Given the description of an element on the screen output the (x, y) to click on. 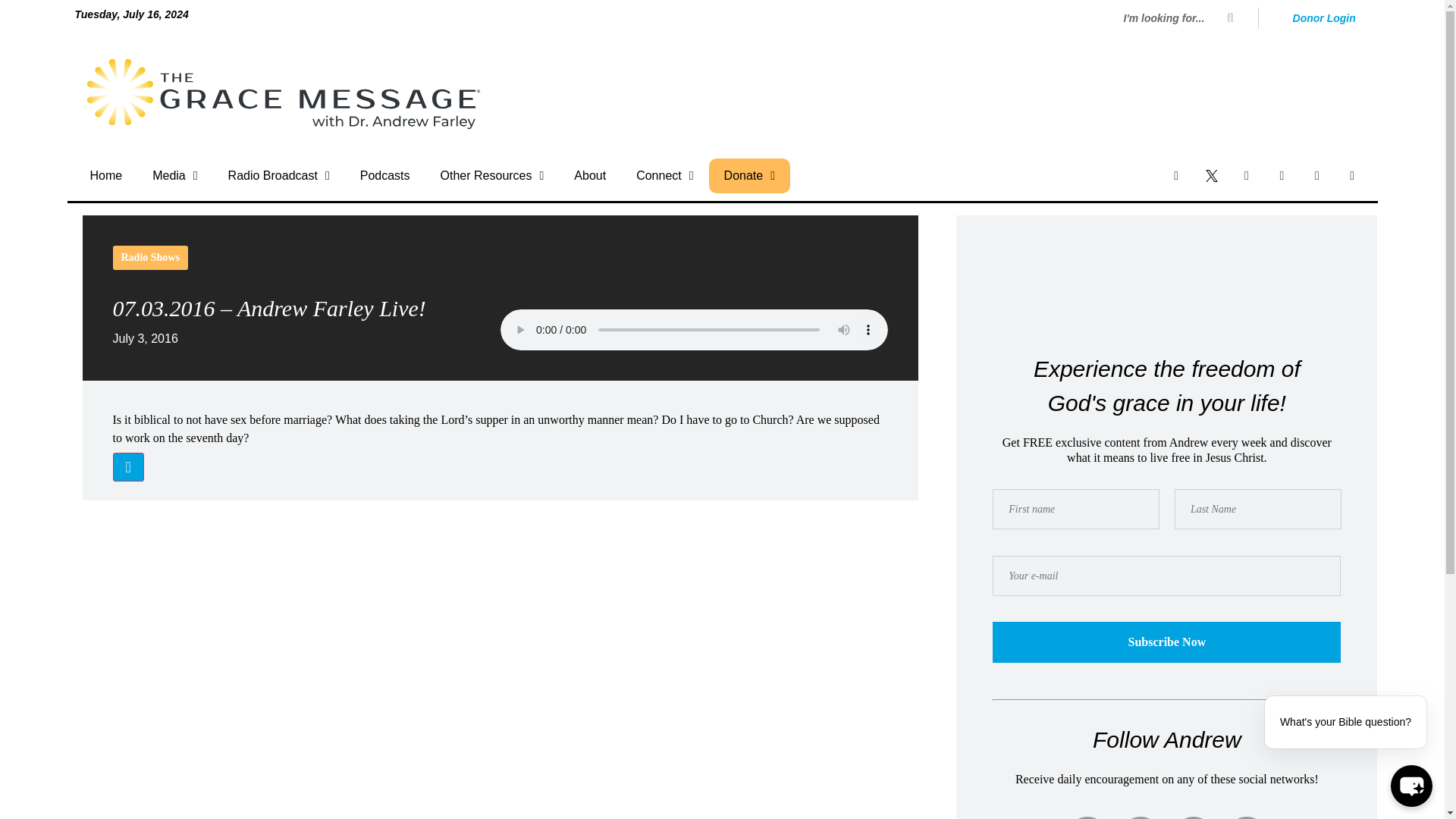
The Grace Message with Dr. Andrew Farley (283, 94)
Subscribe to our YouTube channel (1317, 174)
Other Resources (492, 175)
Podcasts (385, 175)
Donate (749, 175)
Twitter (1139, 817)
Connect (664, 175)
Subscribe Now (1166, 641)
Facebook (1087, 817)
Follow us on Instagram (1245, 174)
Radio Broadcast (278, 175)
Podcasts (1352, 174)
Follow us on TikTok (1280, 174)
Instagram (1193, 817)
Donor Login (1323, 18)
